Given the description of an element on the screen output the (x, y) to click on. 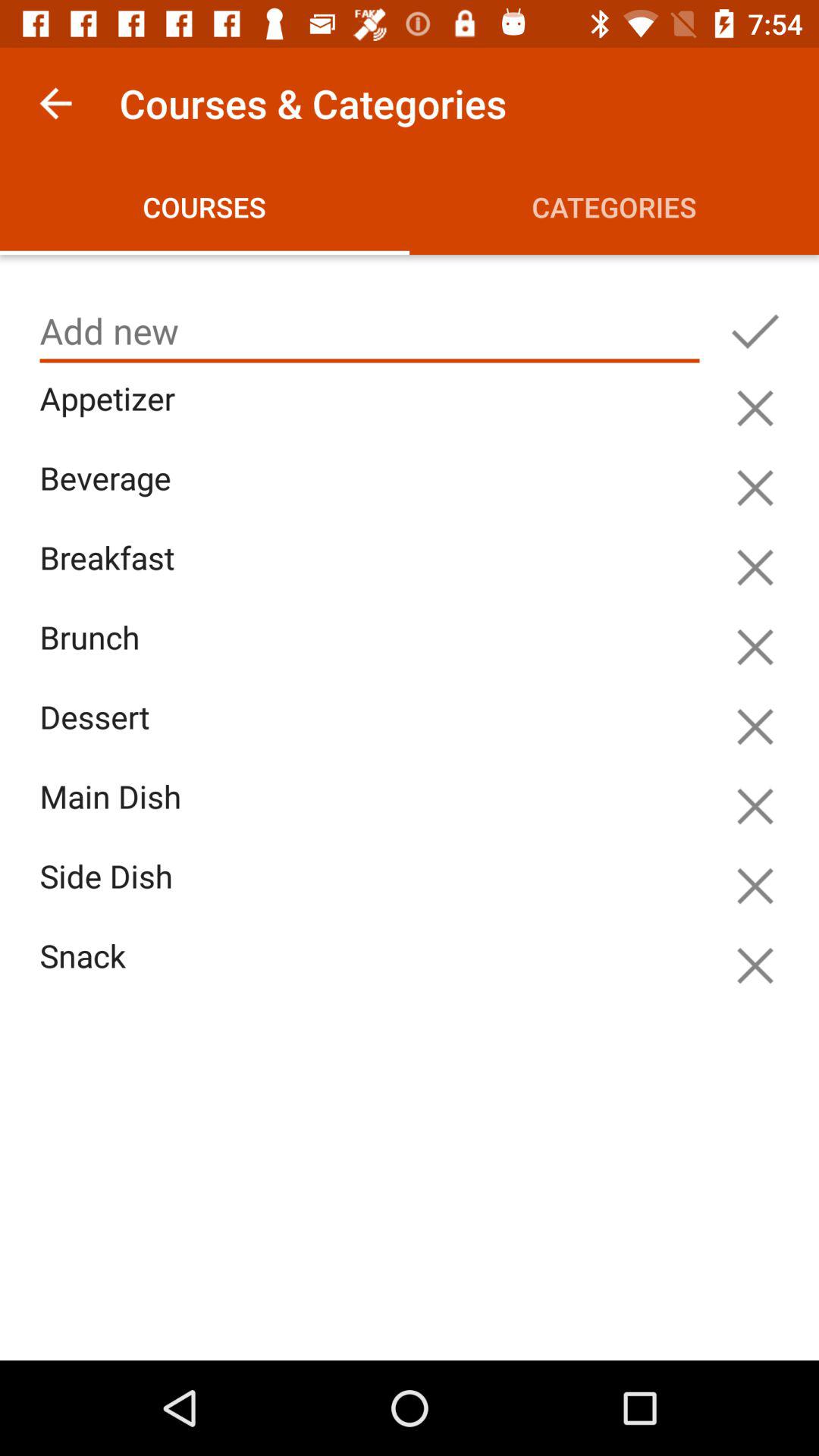
tap icon below courses icon (369, 331)
